Given the description of an element on the screen output the (x, y) to click on. 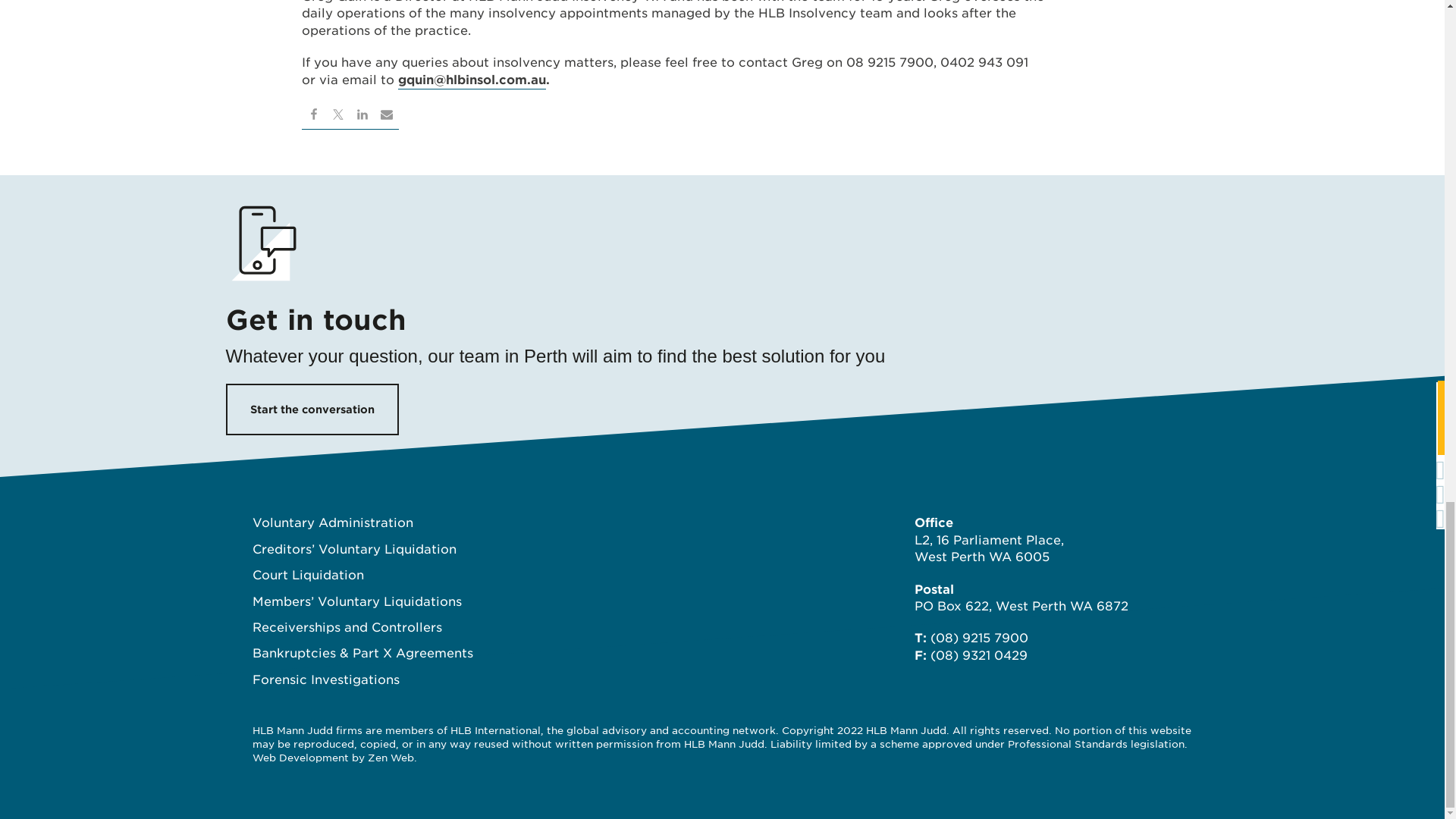
Share on LinkedIn (362, 116)
Share via Email (386, 116)
Share on Facebook (313, 116)
Share on Twitter (338, 116)
